Given the description of an element on the screen output the (x, y) to click on. 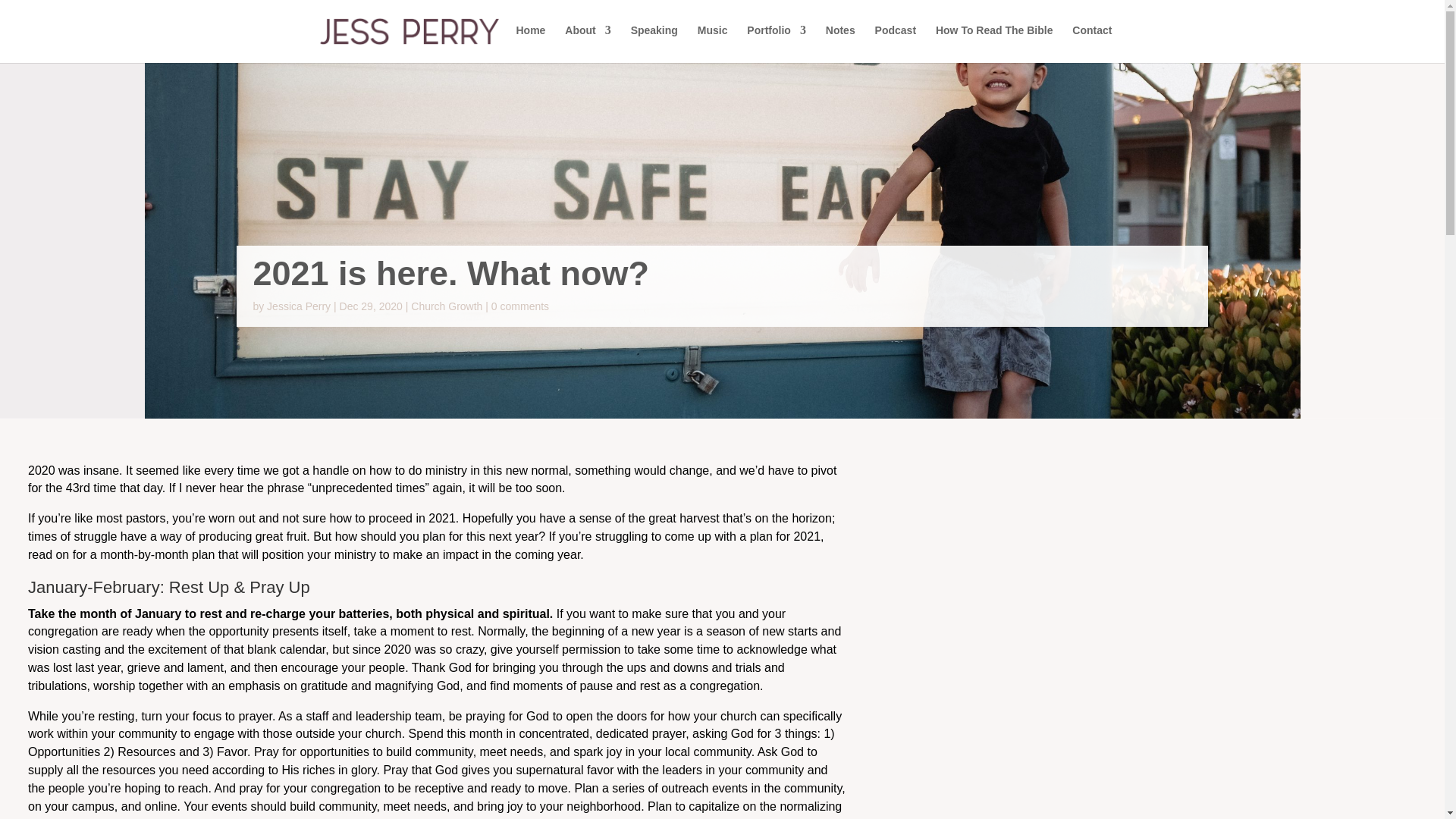
0 comments (520, 306)
Posts by Jessica Perry (298, 306)
About (587, 42)
Contact (1091, 42)
Jessica Perry (298, 306)
Portfolio (776, 42)
Podcast (895, 42)
Church Growth (445, 306)
How To Read The Bible (994, 42)
Speaking (654, 42)
